Given the description of an element on the screen output the (x, y) to click on. 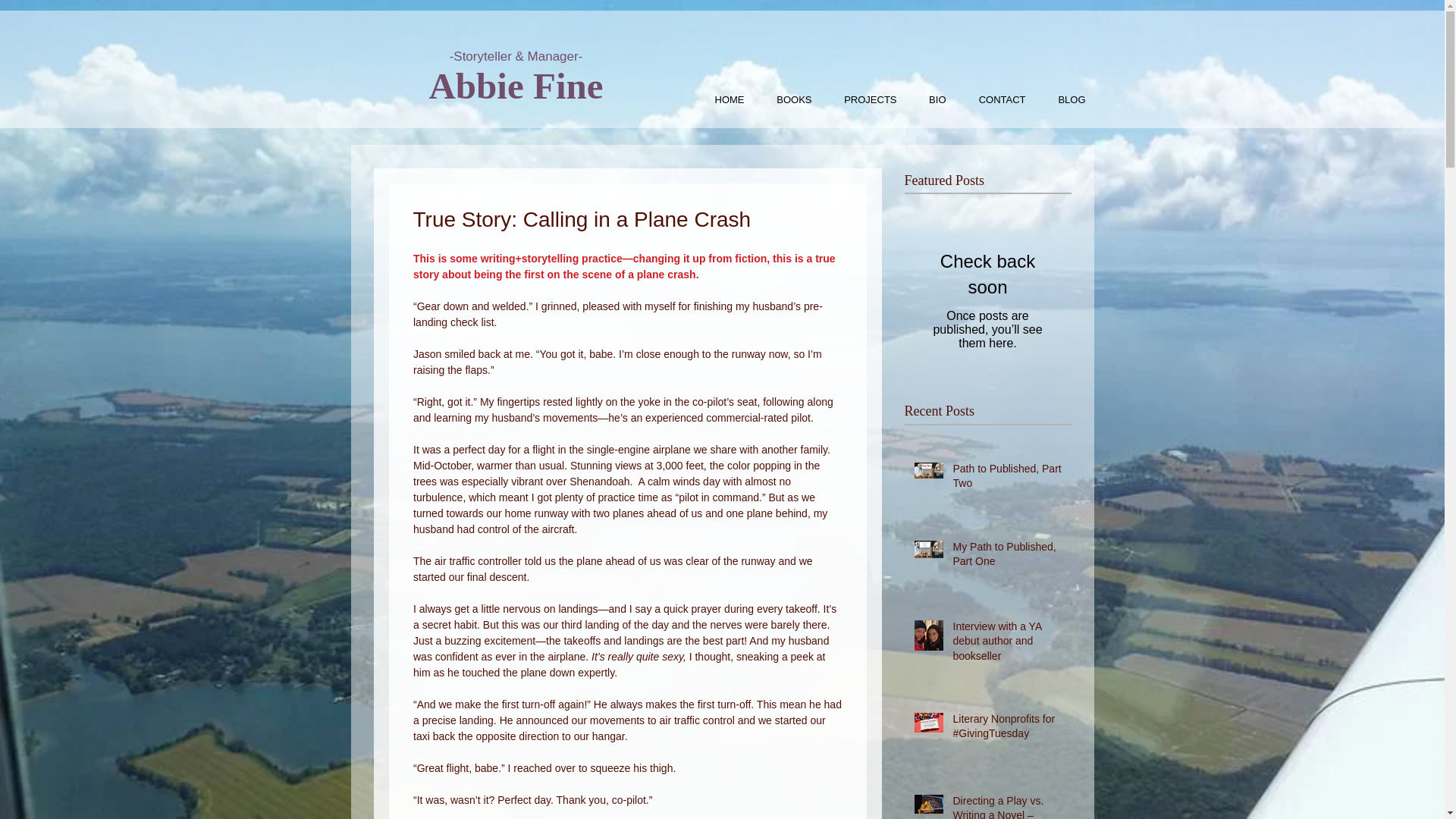
PROJECTS (863, 99)
BIO (930, 99)
BLOG (1063, 99)
My Path to Published, Part One (1006, 557)
CONTACT (993, 99)
Path to Published, Part Two (1006, 479)
HOME (721, 99)
Abbie Fine (515, 86)
BOOKS (785, 99)
Interview with a YA debut author and bookseller (1006, 644)
